Given the description of an element on the screen output the (x, y) to click on. 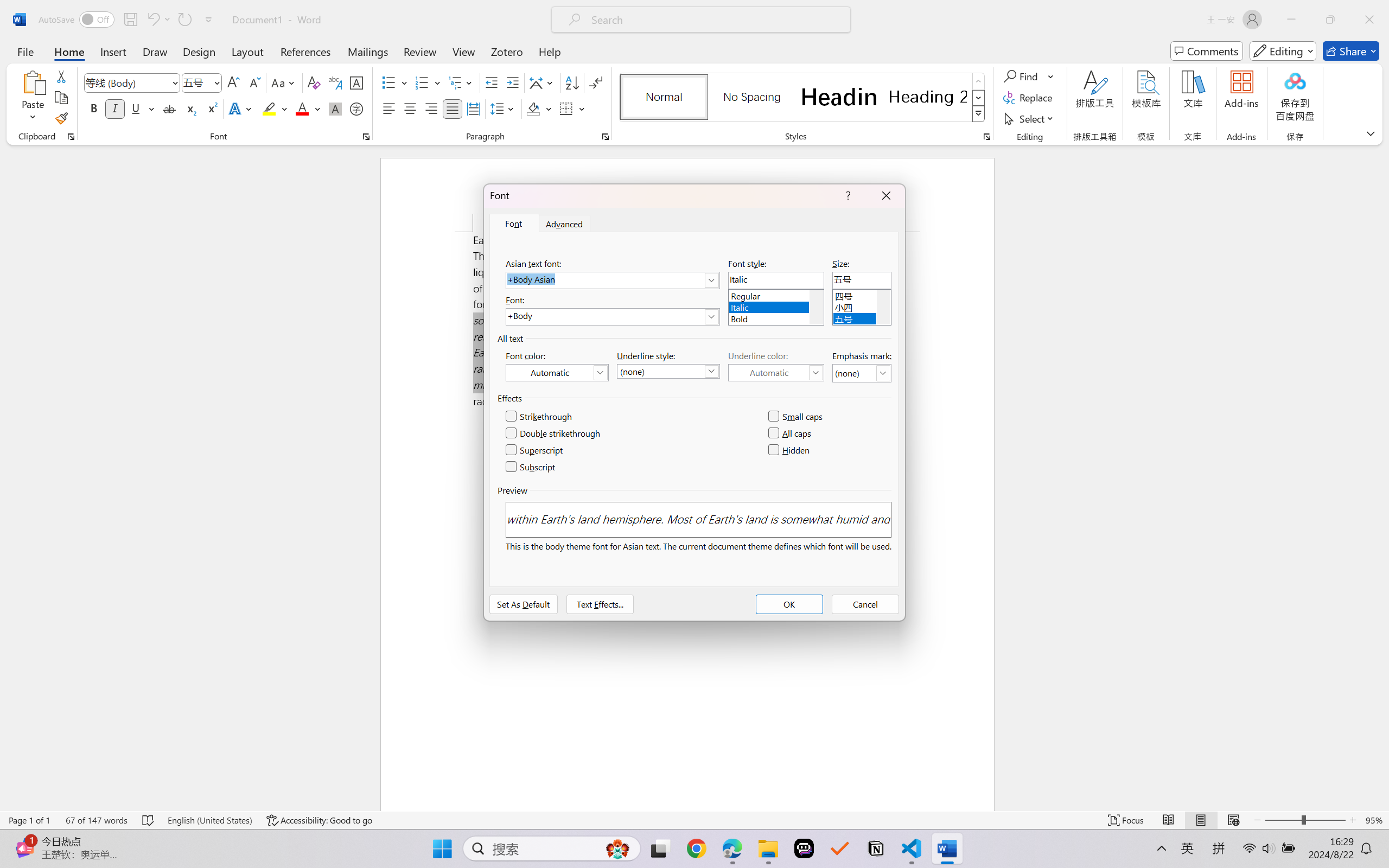
AutomationID: QuickStylesGallery (802, 97)
Change Case (284, 82)
Grow Font (233, 82)
Multilevel List (461, 82)
Replace... (1029, 97)
Hidden (789, 450)
Paragraph... (605, 136)
Increase Indent (512, 82)
Align Right (431, 108)
